Given the description of an element on the screen output the (x, y) to click on. 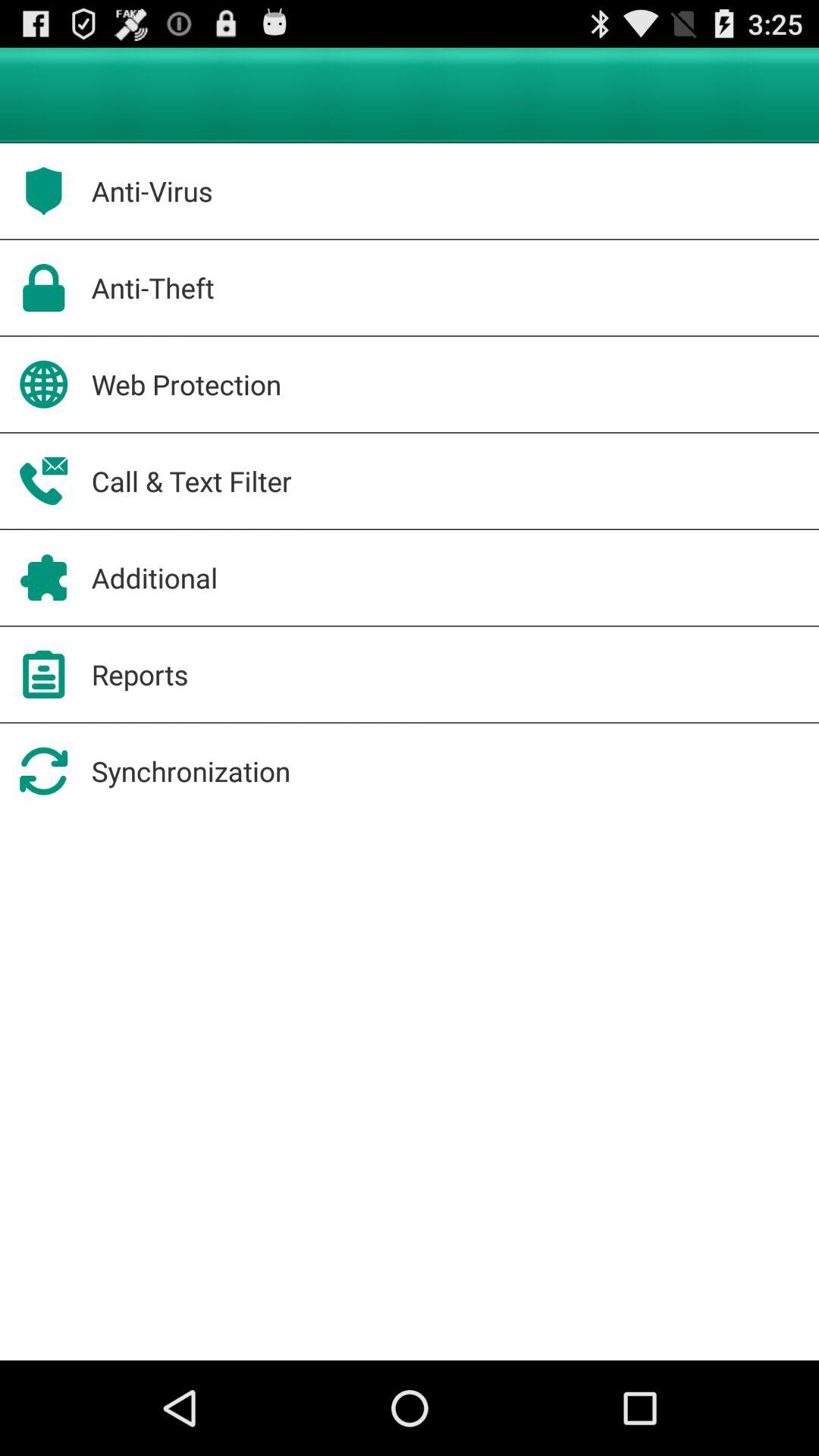
turn on the item above the additional (191, 480)
